Given the description of an element on the screen output the (x, y) to click on. 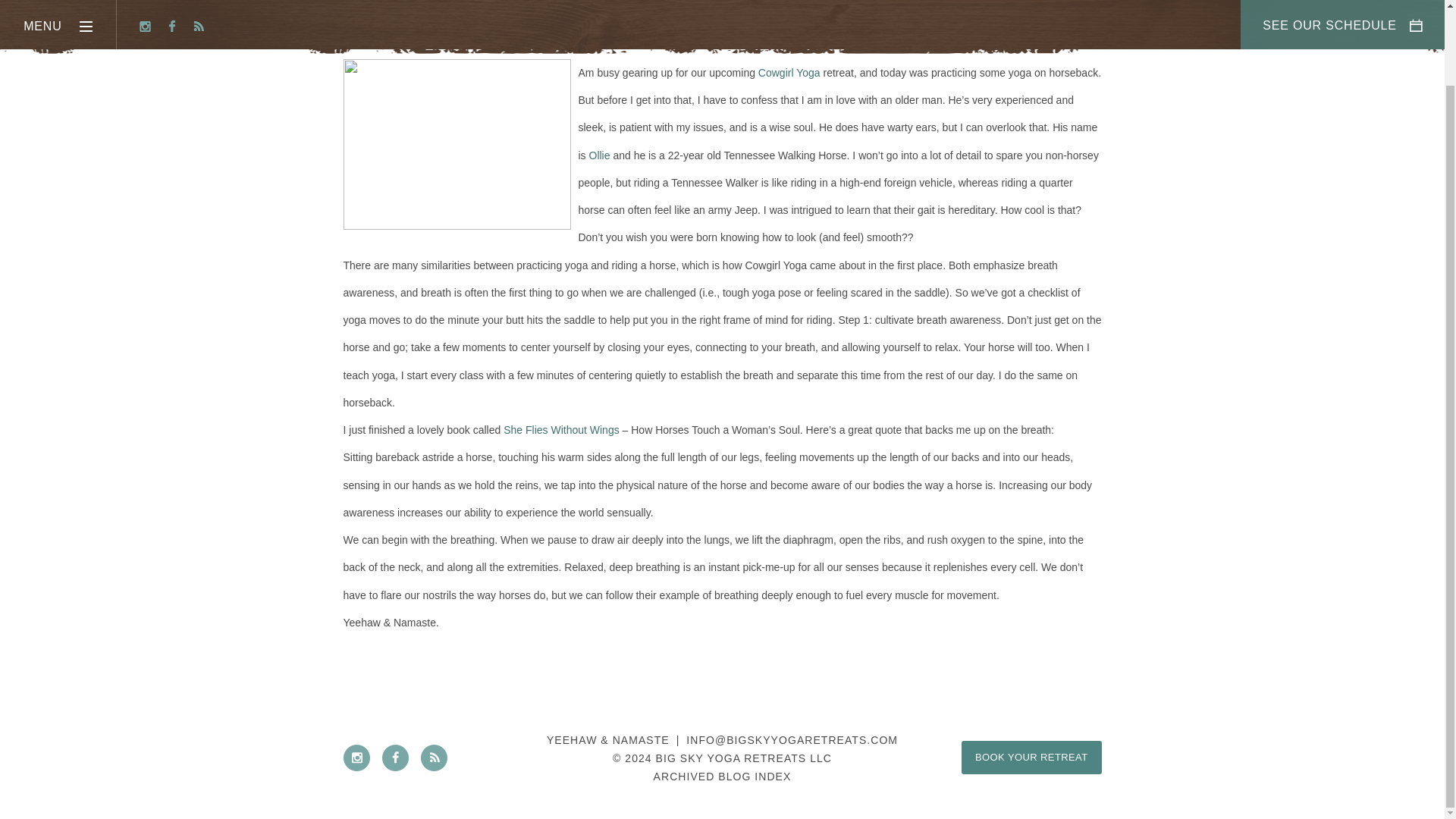
Cowgirl Yoga (789, 72)
Ollie (599, 155)
She Flies Without Wings (561, 429)
